Given the description of an element on the screen output the (x, y) to click on. 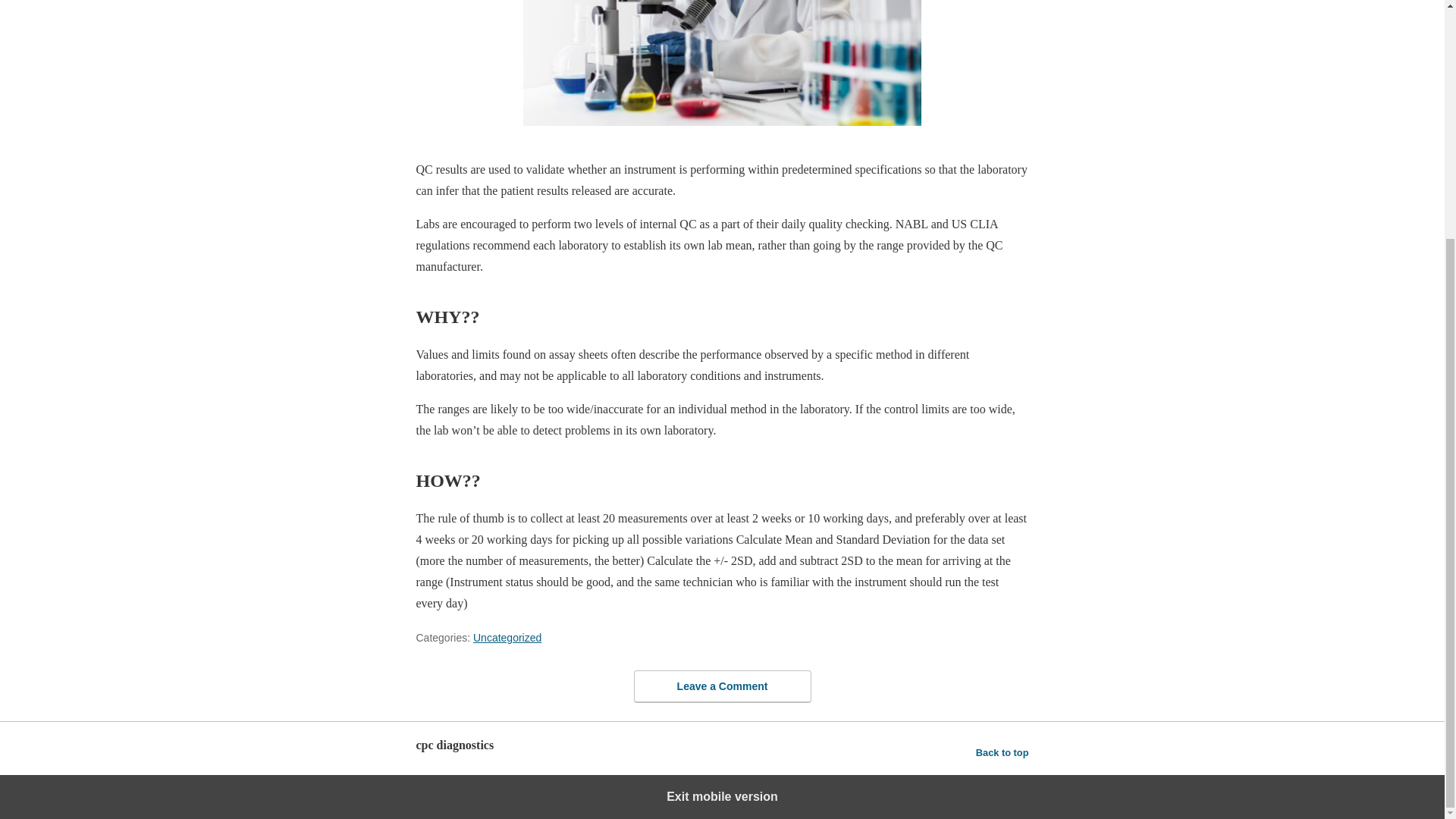
Uncategorized (507, 637)
LAB MEAN 1 (721, 63)
Back to top (1002, 752)
Leave a Comment (721, 686)
